Given the description of an element on the screen output the (x, y) to click on. 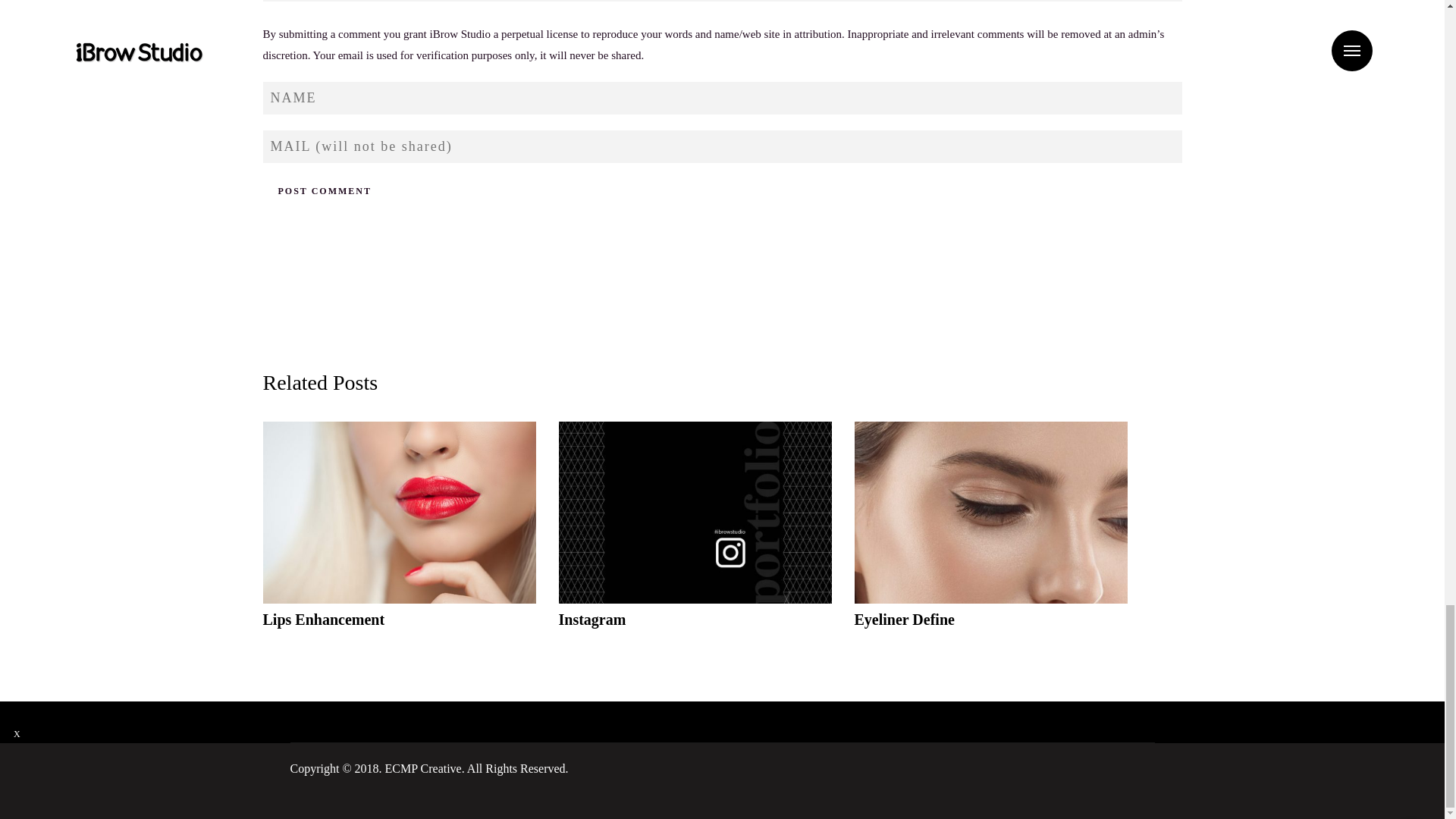
Instagram (694, 534)
Lips Enhancement (398, 534)
Post Comment (323, 191)
Eyeliner Define (989, 534)
Post Comment (323, 191)
